Given the description of an element on the screen output the (x, y) to click on. 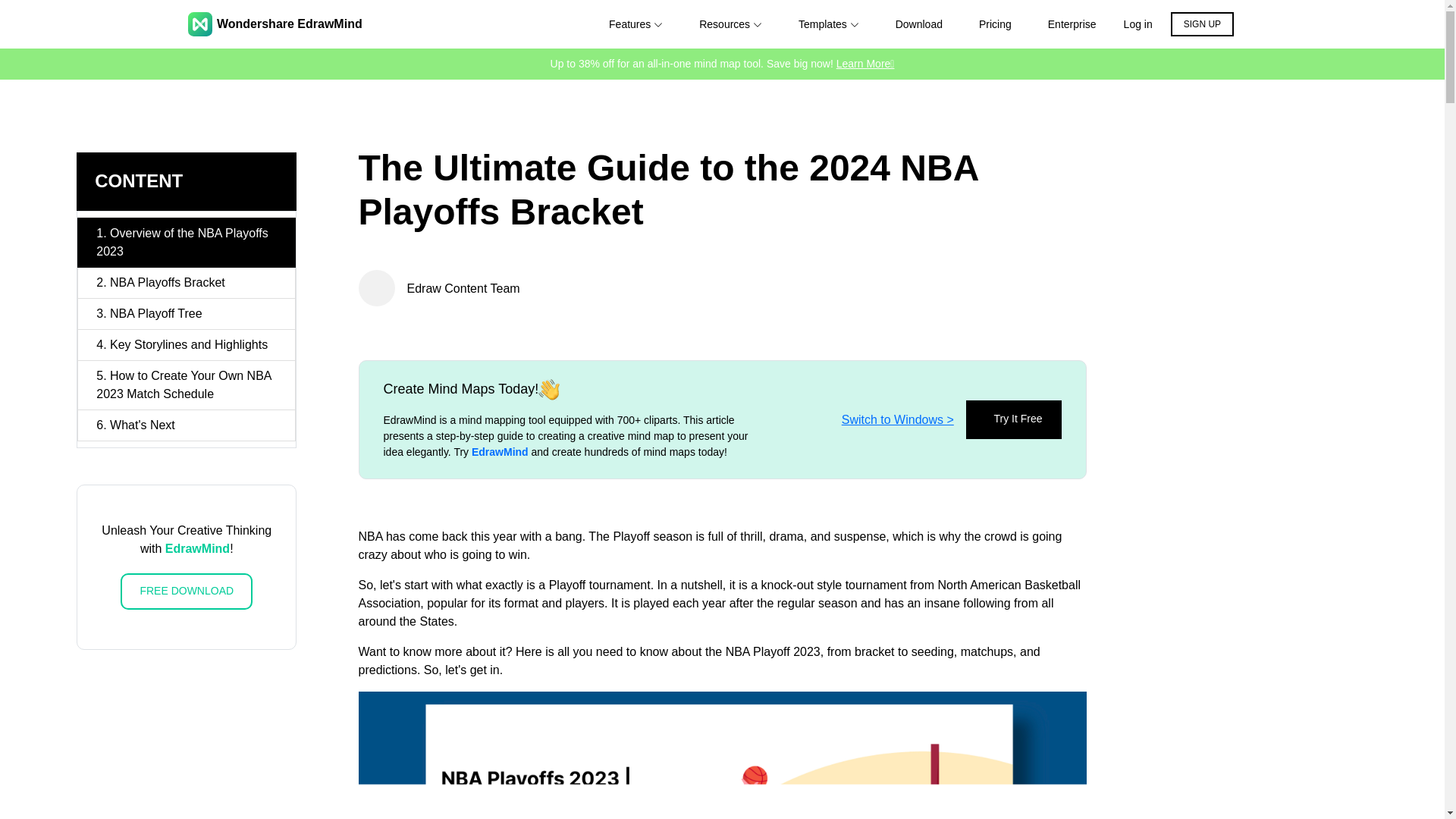
Resources (729, 24)
Features (635, 24)
Download (918, 24)
Pricing (994, 24)
Wondershare EdrawMind (274, 24)
Templates (828, 24)
